Given the description of an element on the screen output the (x, y) to click on. 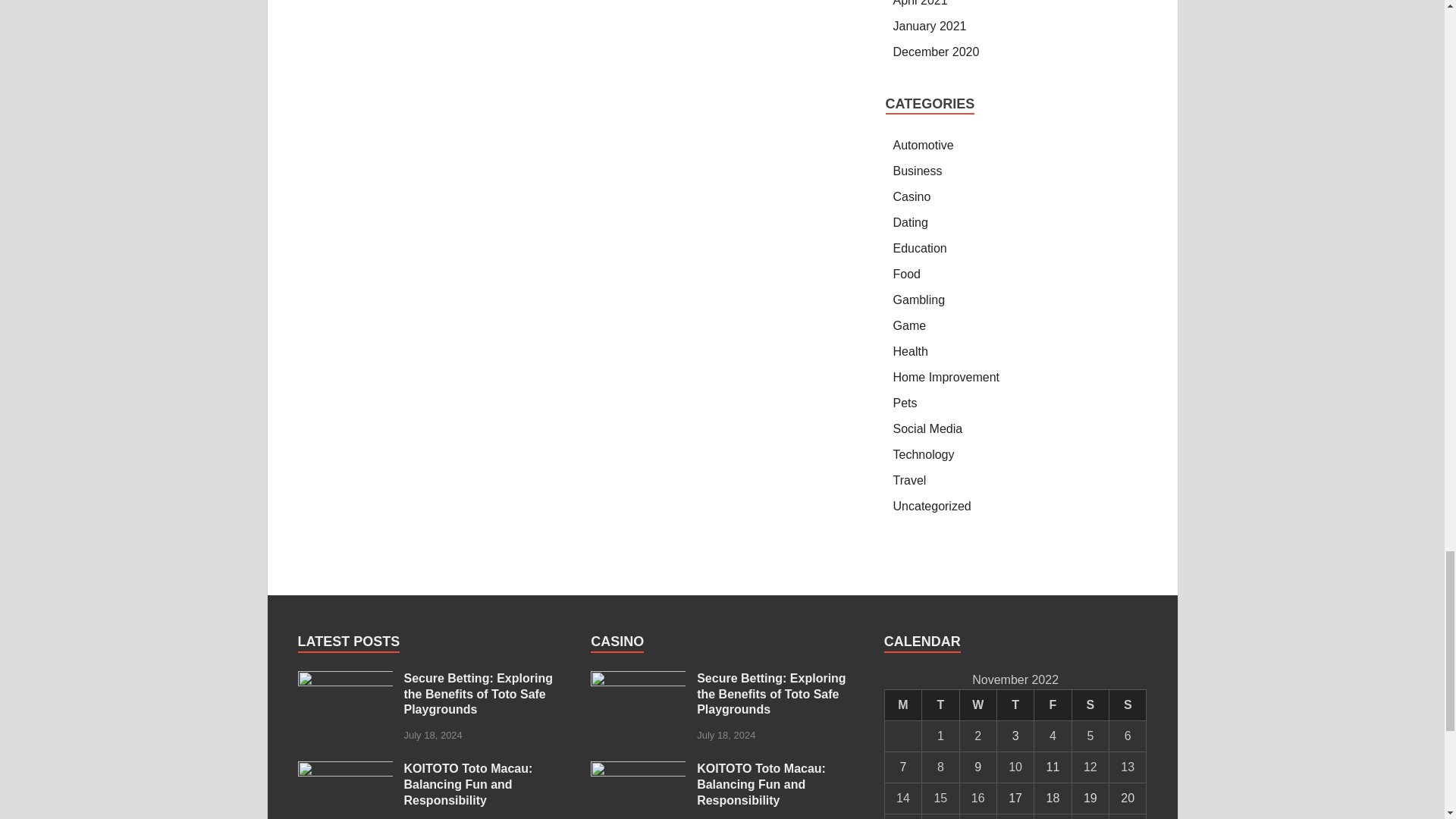
KOITOTO Toto Macau: Balancing Fun and Responsibility (344, 769)
KOITOTO Toto Macau: Balancing Fun and Responsibility (638, 769)
